Given the description of an element on the screen output the (x, y) to click on. 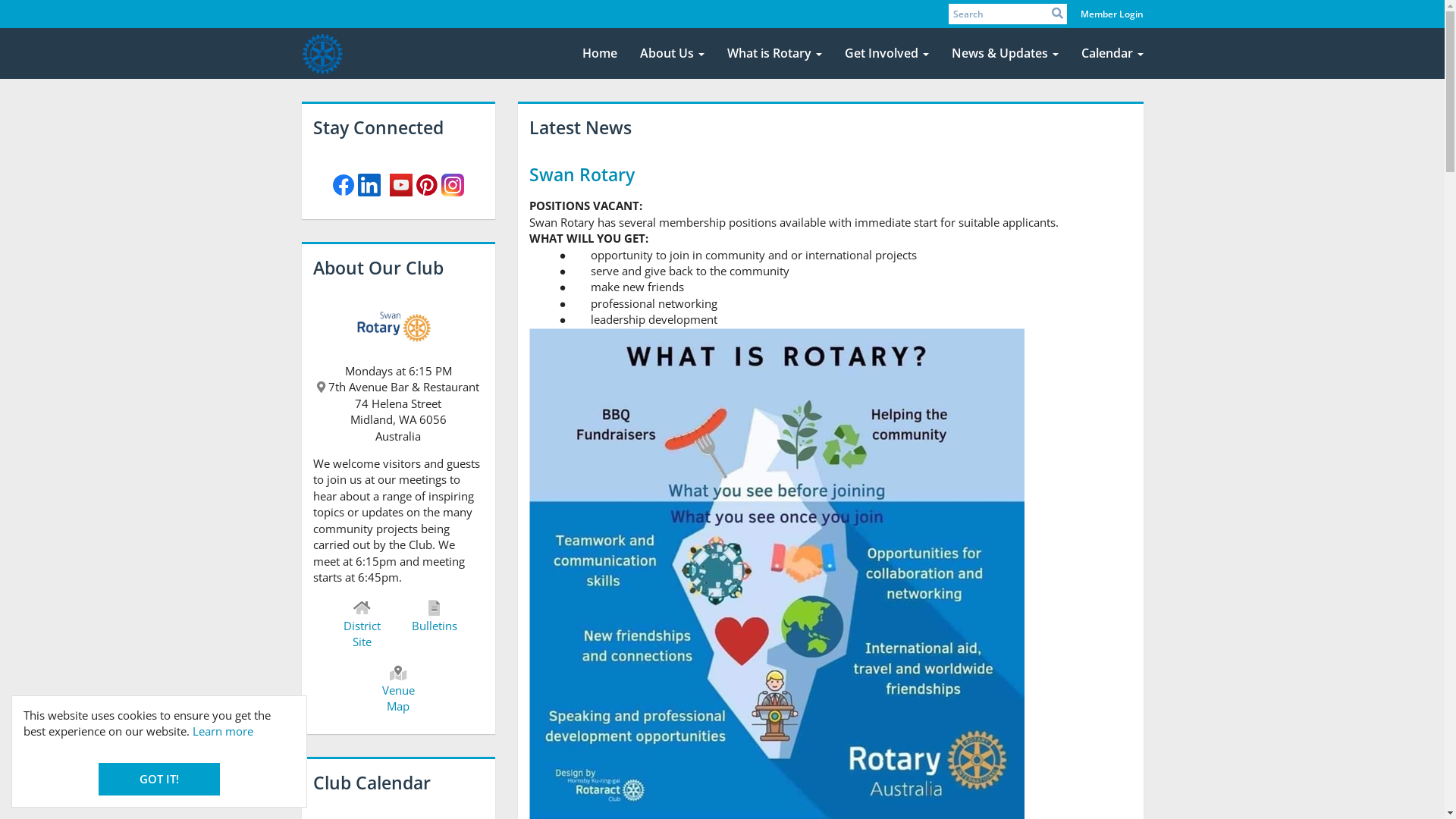
District Site Element type: text (361, 624)
Venue Map Element type: text (397, 690)
Calendar Element type: text (1111, 53)
Bulletins Element type: text (433, 616)
News & Updates Element type: text (1005, 53)
Learn more Element type: text (222, 730)
Get Involved Element type: text (885, 53)
Swan Rotary Element type: text (581, 174)
Home Element type: text (598, 53)
Member Login Element type: text (1110, 13)
What is Rotary Element type: text (774, 53)
GOT IT! Element type: text (158, 778)
About Us Element type: text (671, 53)
